Given the description of an element on the screen output the (x, y) to click on. 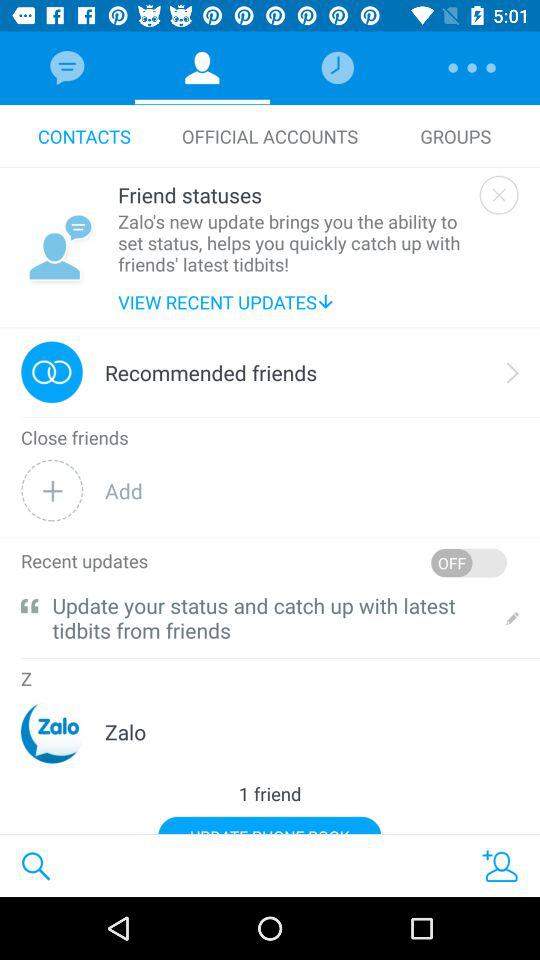
close prompt (498, 194)
